Given the description of an element on the screen output the (x, y) to click on. 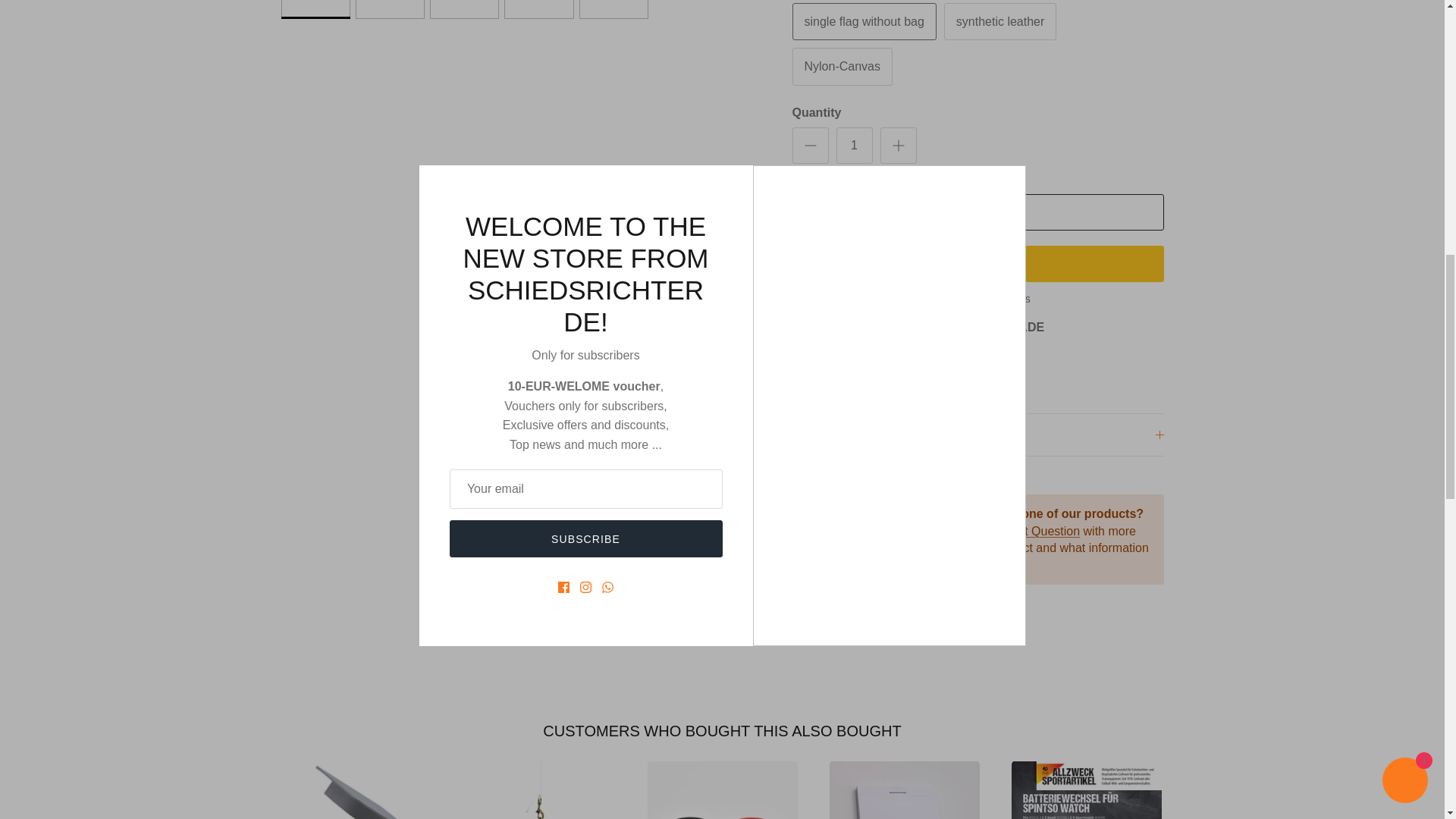
Spintso watch battery change (1086, 789)
Plus (897, 145)
Minus (809, 145)
1 (853, 145)
plain white note pad (904, 789)
Pendulum ball incl. nylon rope (540, 789)
plastic flip coin (722, 789)
Ground sleeve, 100x120mm, for large stadium goals (358, 789)
Product Question (1032, 530)
